Given the description of an element on the screen output the (x, y) to click on. 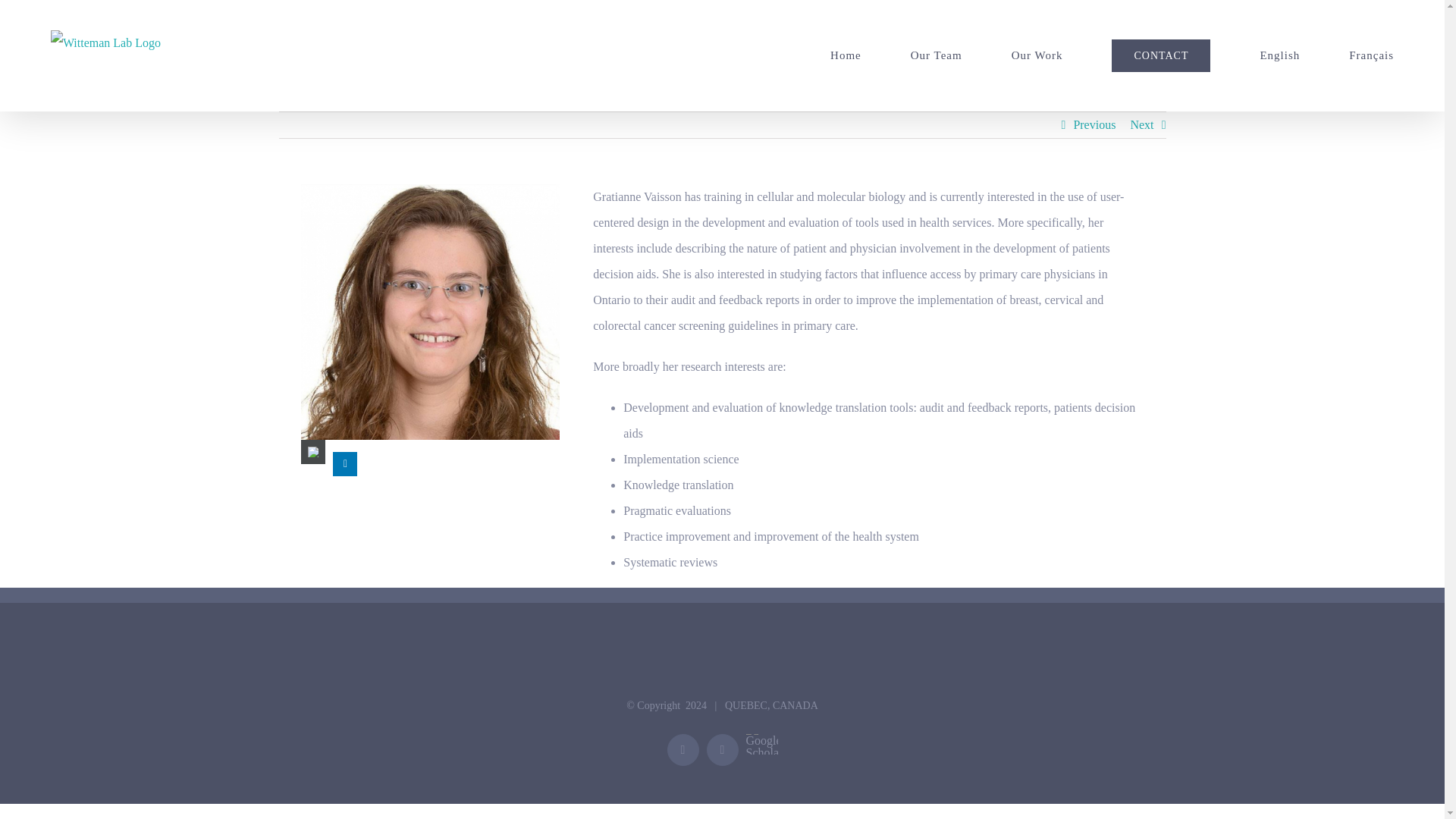
CONTACT (1160, 55)
Facebook (682, 749)
X (722, 749)
X (722, 749)
LinkedIn (344, 463)
Google Scholar (761, 737)
Next (1141, 125)
Google Scholar (312, 451)
Gratianne Vaisson (430, 311)
Facebook (682, 749)
Previous (1094, 125)
Google Scholar (761, 737)
